Given the description of an element on the screen output the (x, y) to click on. 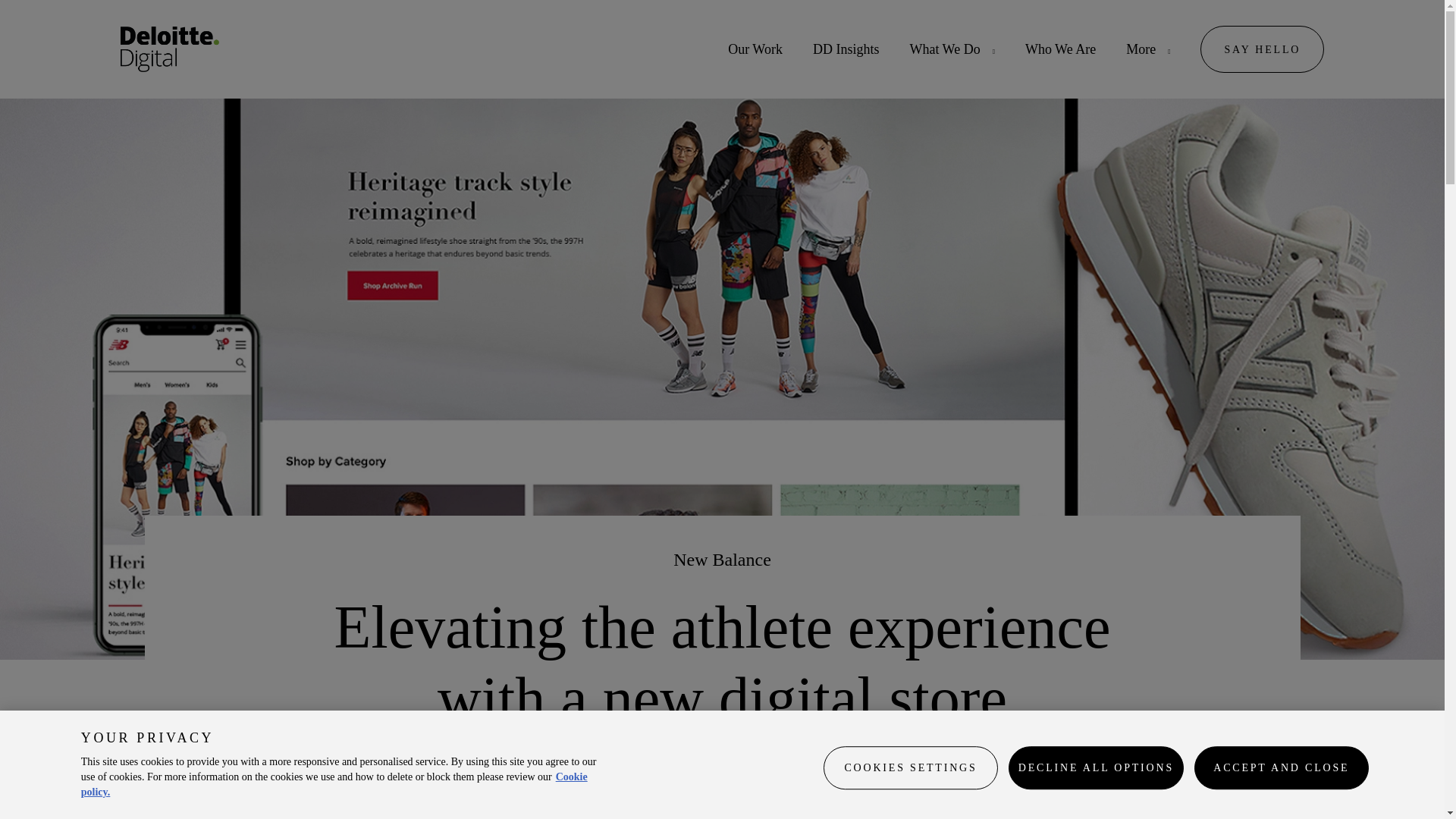
Our Work (755, 48)
What We Do (943, 48)
More (1140, 48)
Who We Are (1060, 48)
SAY HELLO (1261, 48)
DD Insights (845, 48)
